Given the description of an element on the screen output the (x, y) to click on. 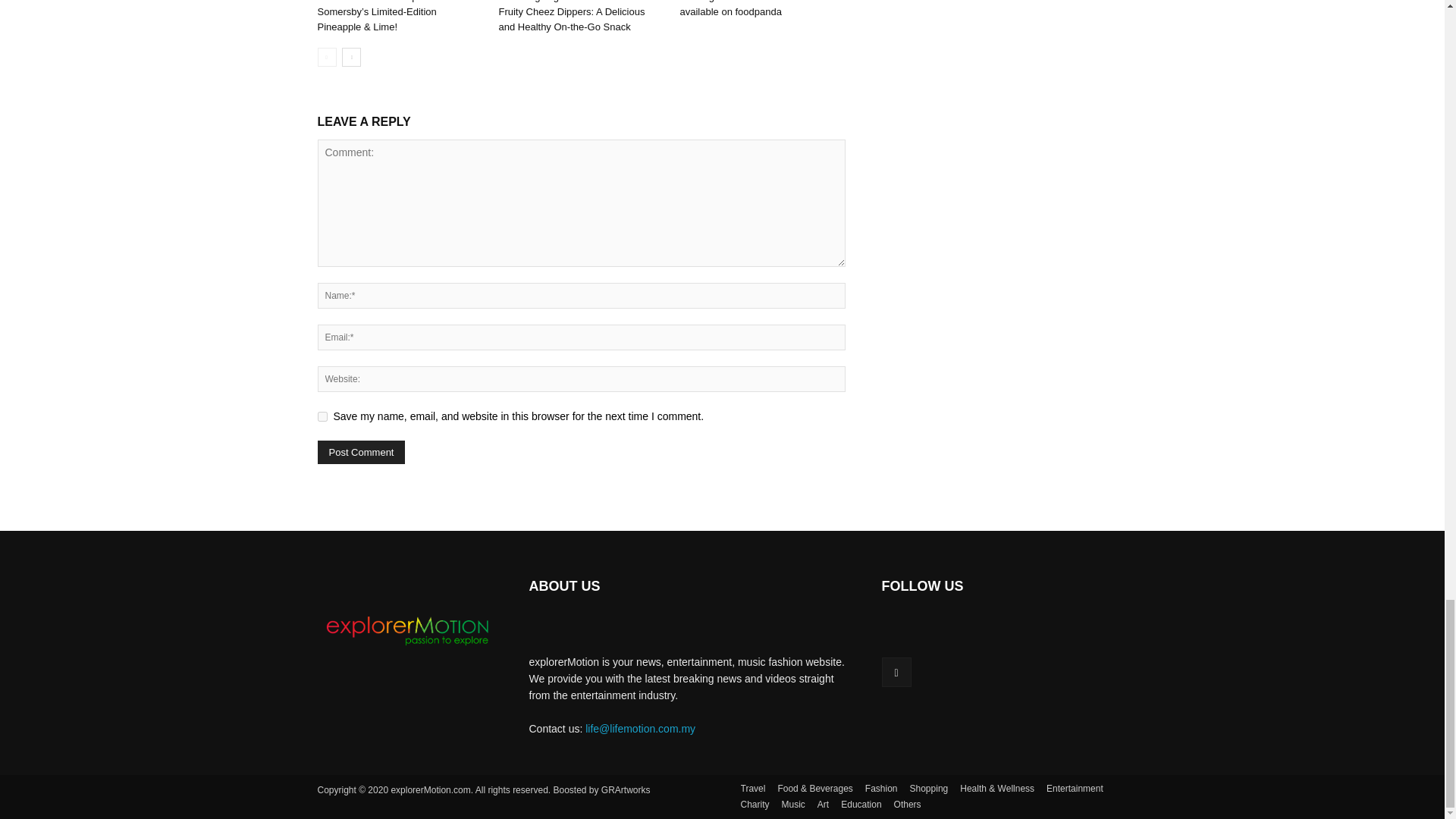
yes (321, 416)
Post Comment (360, 452)
